Given the description of an element on the screen output the (x, y) to click on. 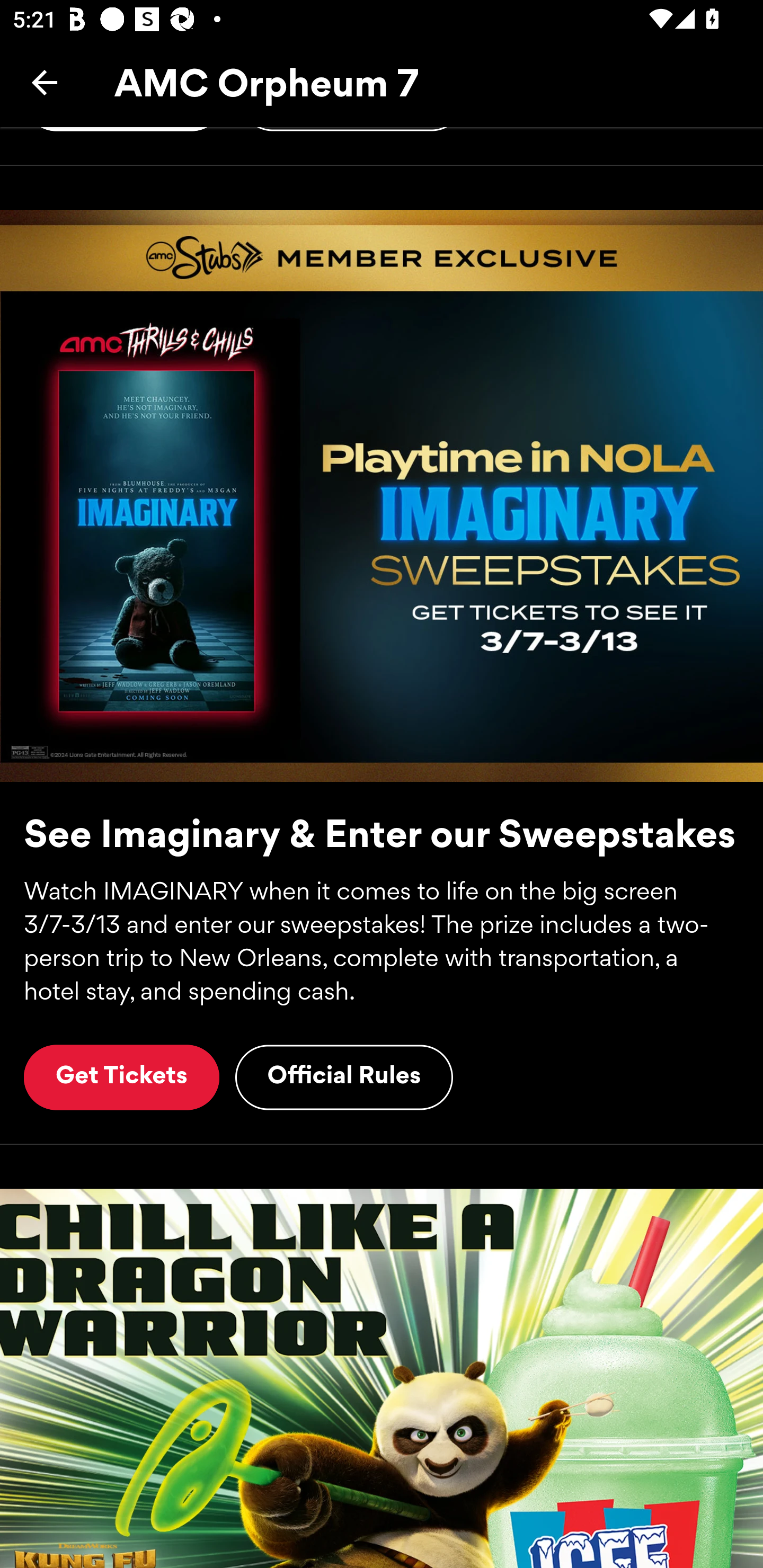
Back (44, 82)
Get Tickets (121, 1076)
Official Rules (344, 1076)
